Given the description of an element on the screen output the (x, y) to click on. 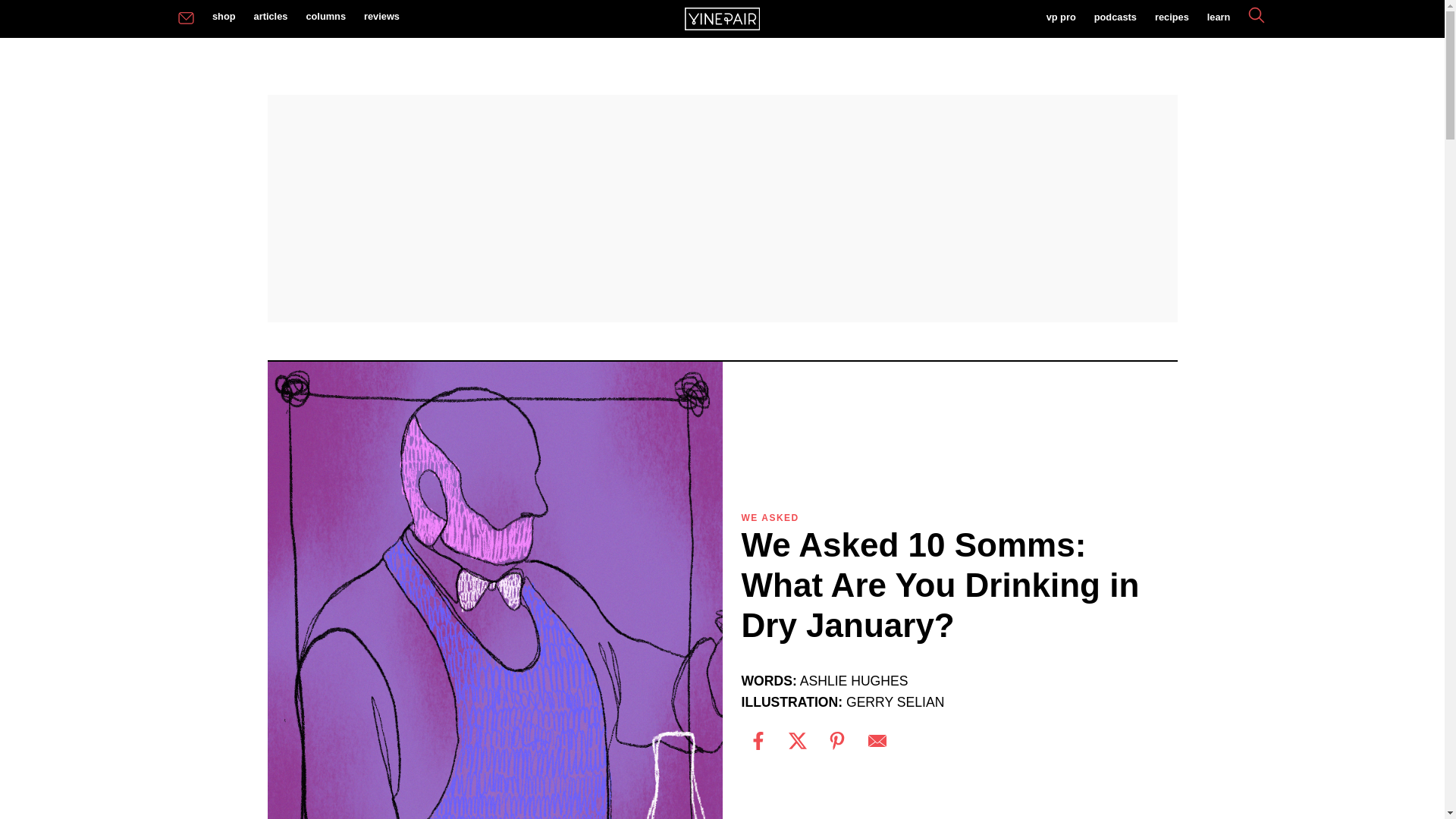
3rd party ad content (721, 208)
reviews (382, 17)
columns (326, 17)
articles (270, 17)
shop (223, 17)
podcasts (1114, 17)
vp pro (1060, 17)
